Given the description of an element on the screen output the (x, y) to click on. 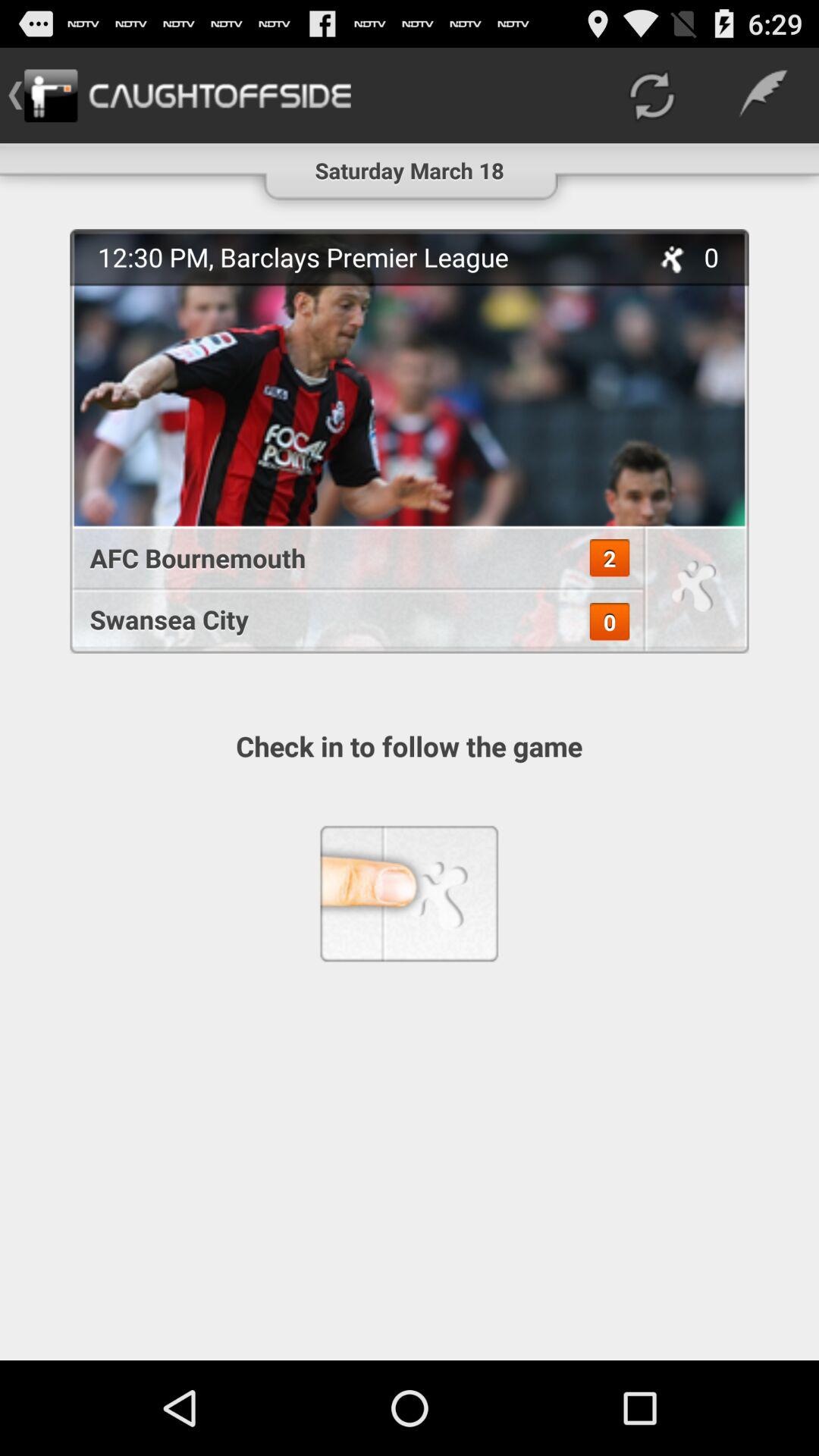
click swansea city icon (348, 619)
